Given the description of an element on the screen output the (x, y) to click on. 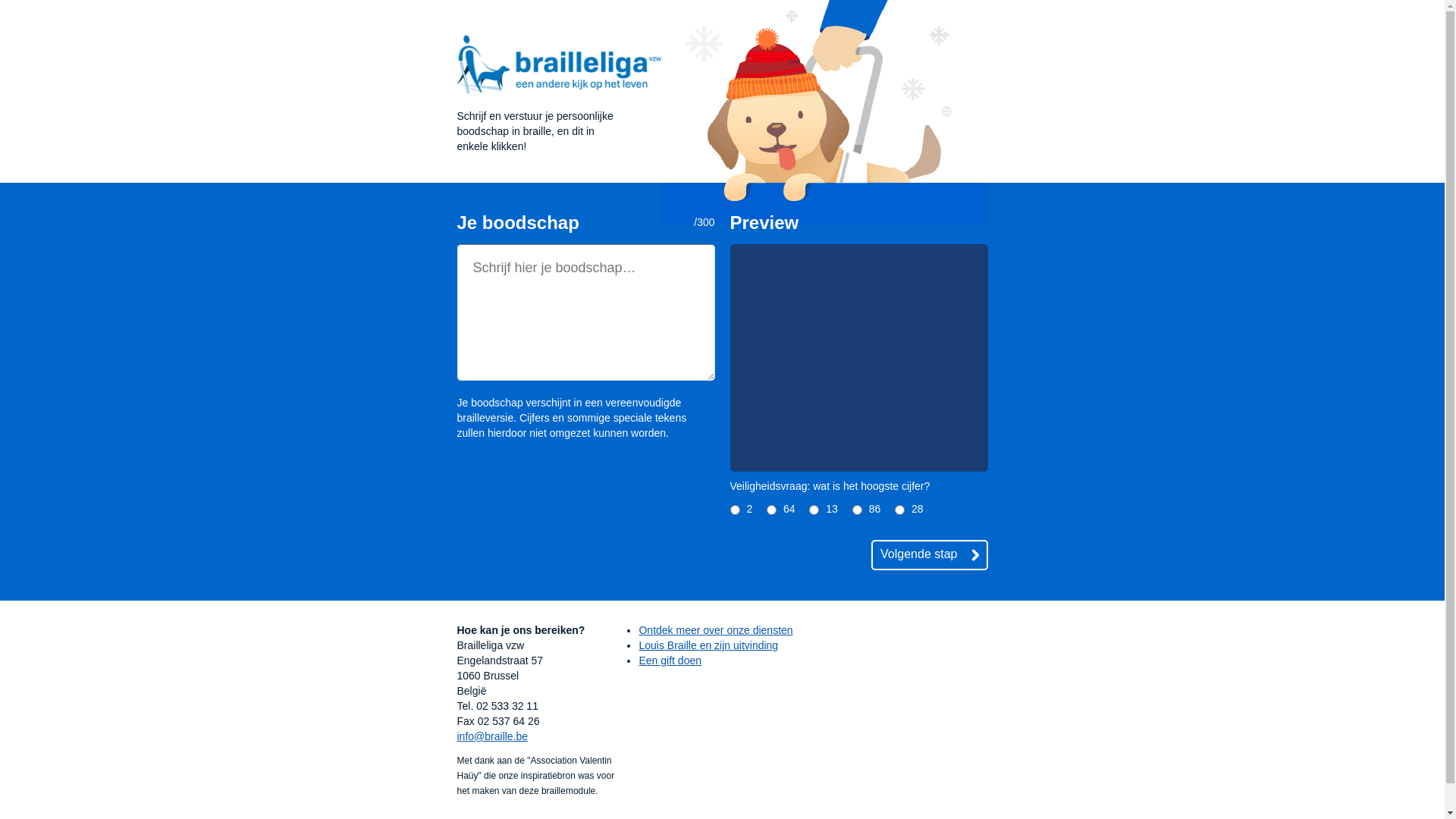
Louis Braille en zijn uitvinding Element type: text (708, 645)
info@braille.be Element type: text (491, 736)
Ontdek meer over onze diensten Element type: text (715, 630)
Een gift doen Element type: text (669, 660)
Verzenden Element type: text (31, 8)
Volgende stap Element type: text (929, 554)
